Given the description of an element on the screen output the (x, y) to click on. 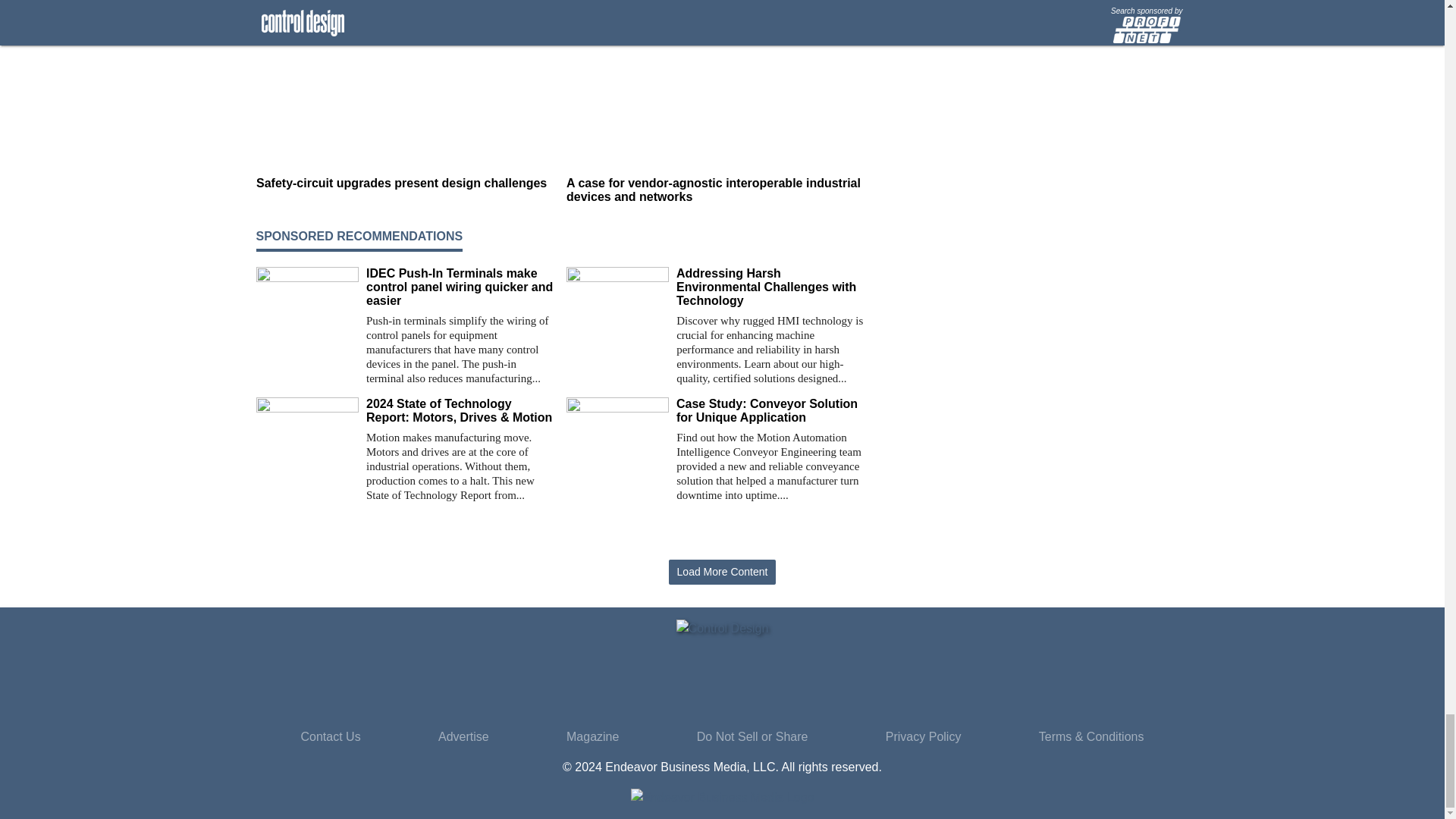
Addressing Harsh Environmental Challenges with Technology (770, 286)
Safety-circuit upgrades present design challenges (405, 183)
